Given the description of an element on the screen output the (x, y) to click on. 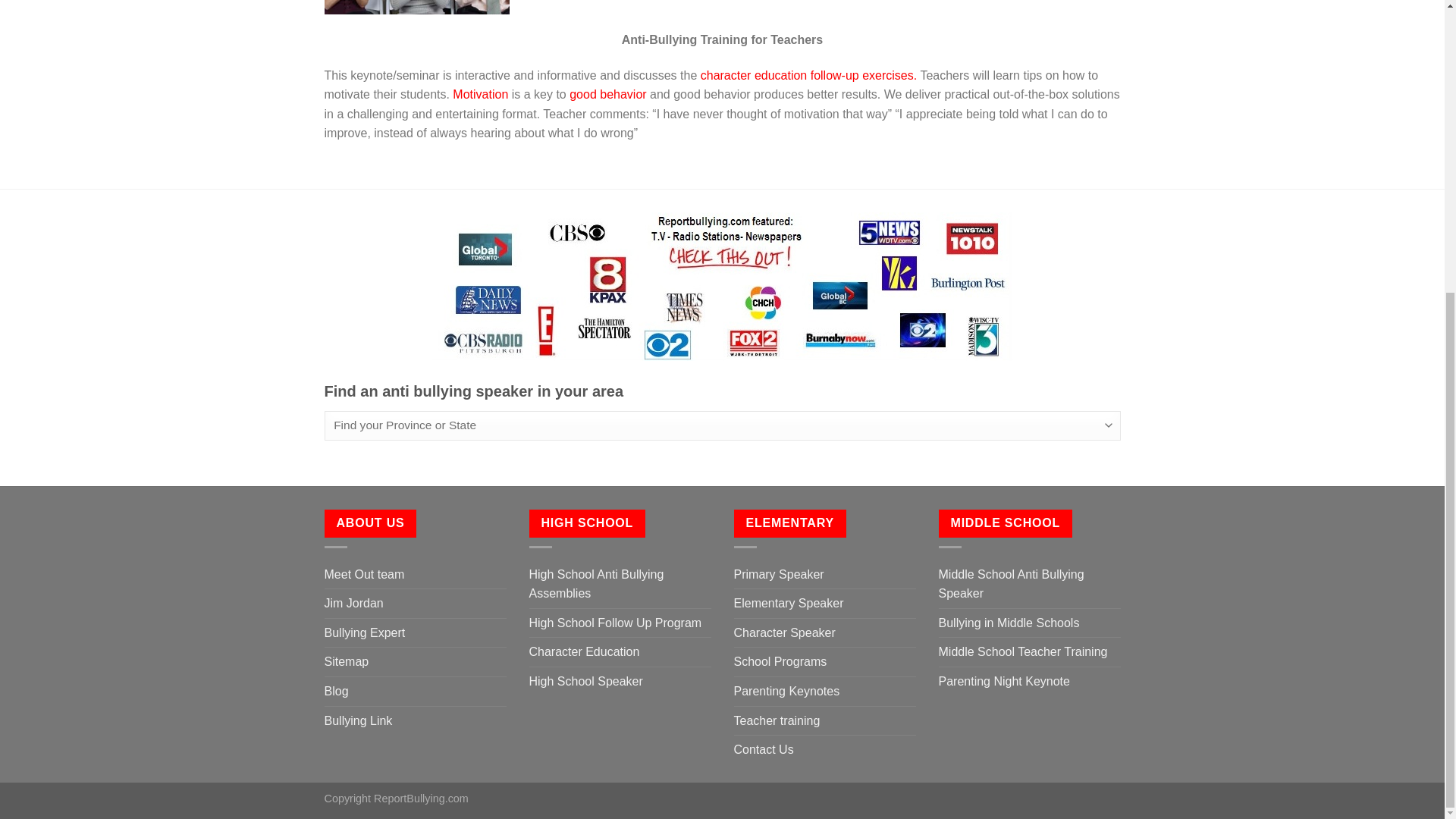
character education follow-up exercises. (808, 74)
Motivation (480, 93)
Meet Out team (364, 574)
good behavior (607, 93)
